Given the description of an element on the screen output the (x, y) to click on. 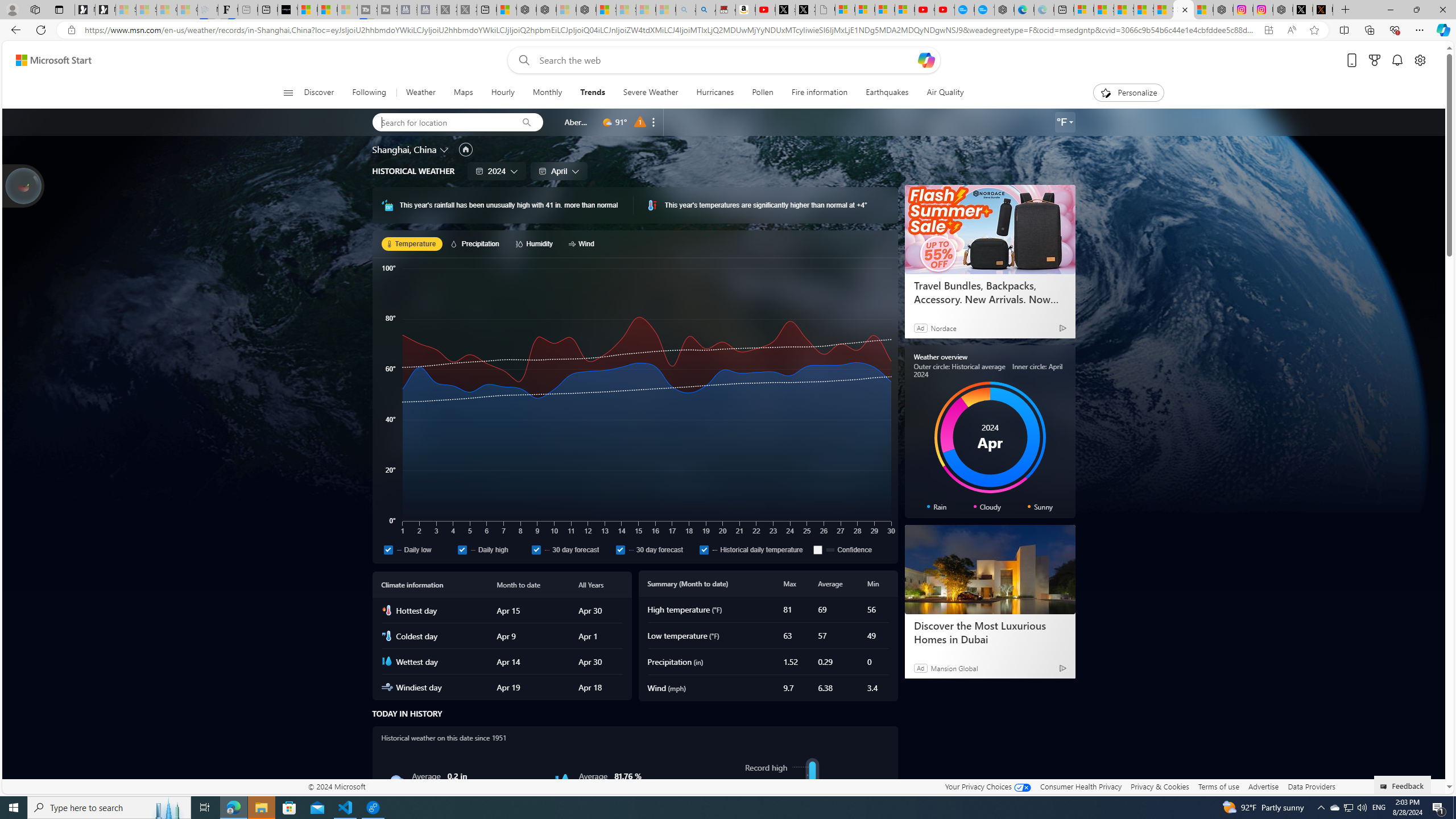
Trends (592, 92)
amazon - Search - Sleeping (685, 9)
Pollen (762, 92)
Change location (445, 149)
Consumer Health Privacy (1080, 785)
Fire information (819, 92)
Class: button-glyph (287, 92)
2024 (496, 170)
